Given the description of an element on the screen output the (x, y) to click on. 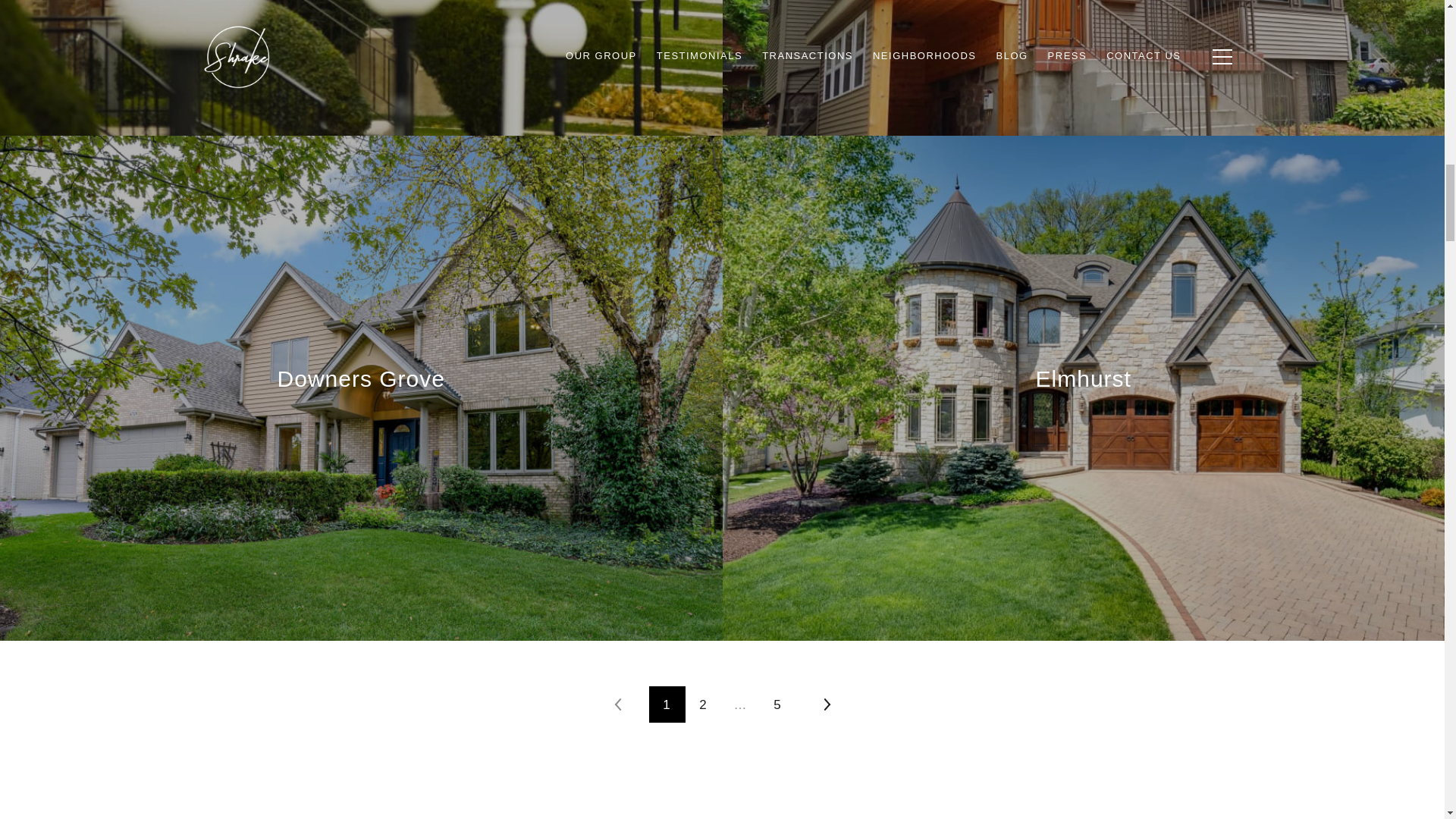
Next page (826, 704)
